Given the description of an element on the screen output the (x, y) to click on. 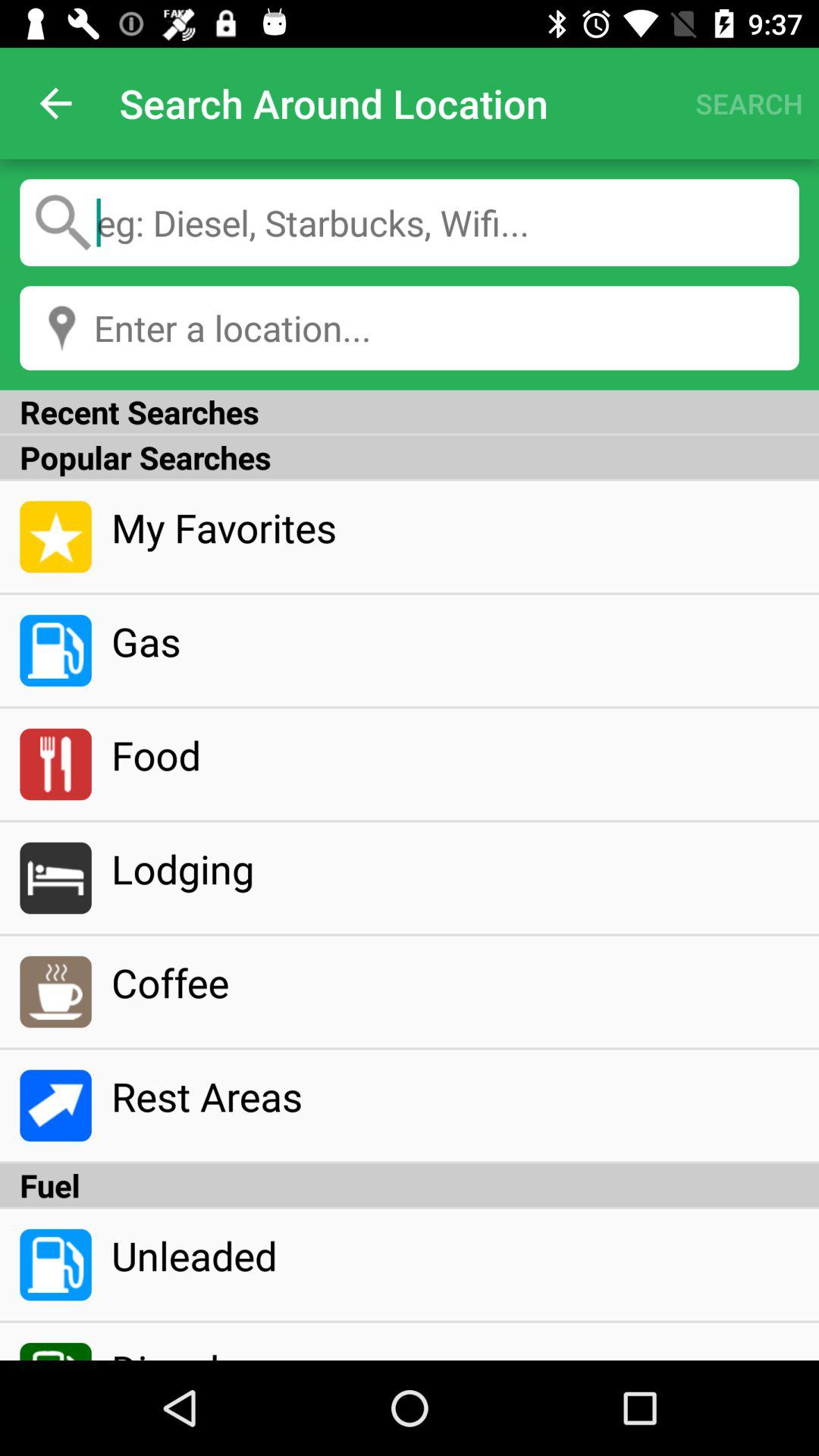
turn off icon below the gas (455, 754)
